Given the description of an element on the screen output the (x, y) to click on. 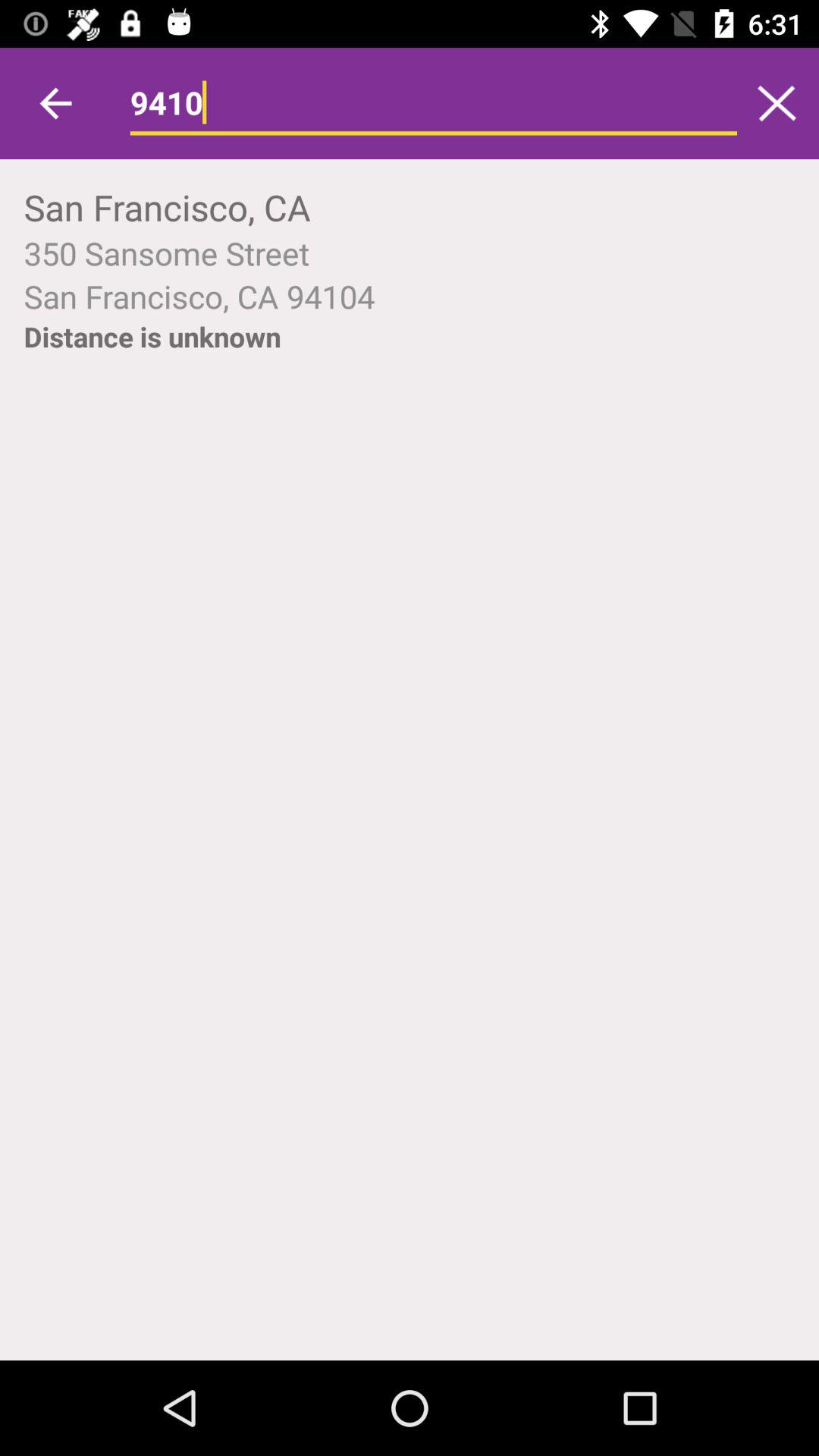
tap icon next to 9410 icon (776, 103)
